Given the description of an element on the screen output the (x, y) to click on. 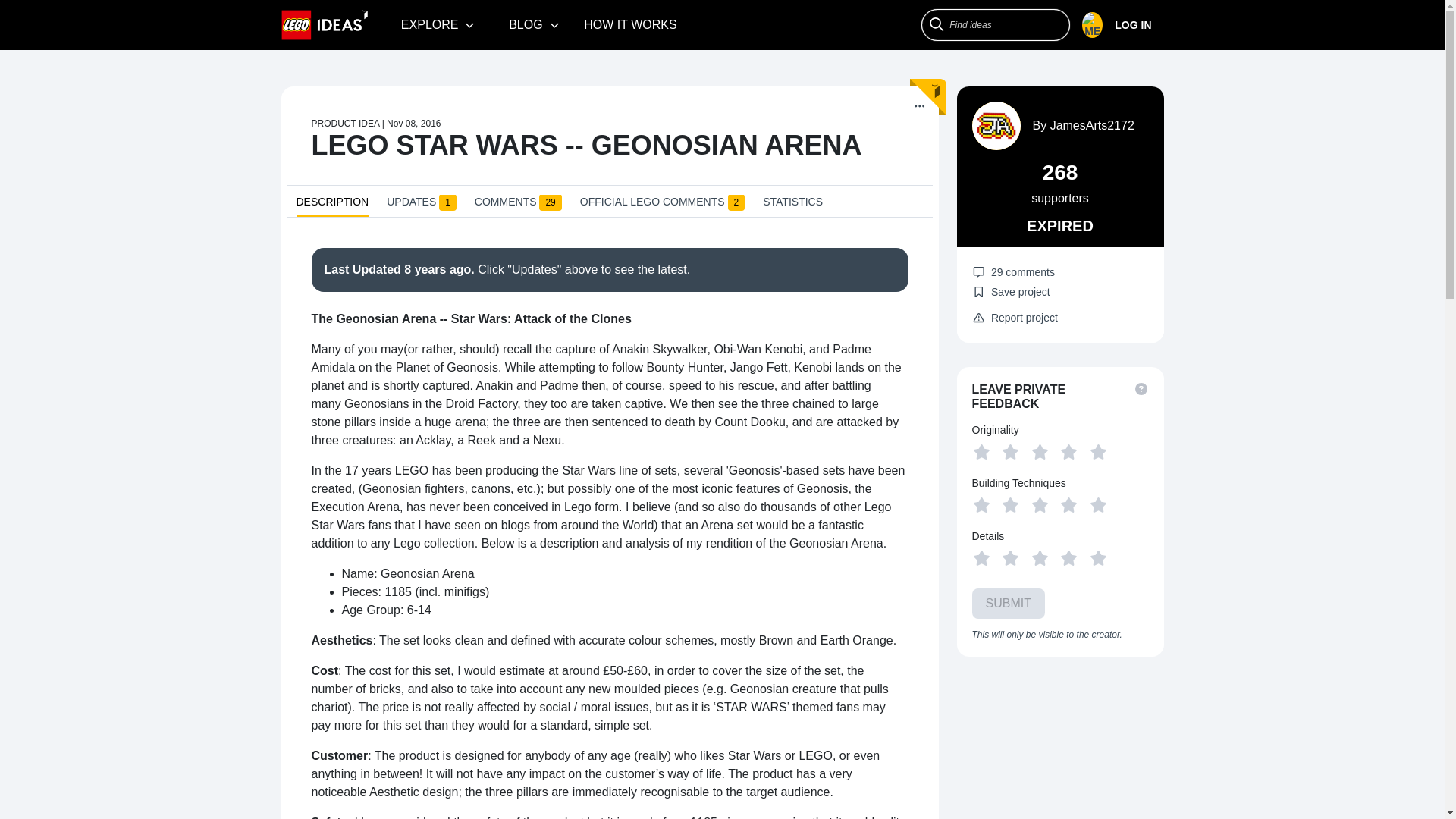
Report project (1015, 317)
UPDATES 1 (422, 204)
SUBMIT (1008, 603)
LOG IN (1122, 25)
2016-11-16T07:37:31.0Z (437, 269)
HOW IT WORKS (630, 24)
Save project (1010, 291)
Me (1116, 25)
EXPLORE (437, 24)
BLOG (534, 24)
OFFICIAL LEGO COMMENTS 2 (661, 204)
How It Works (630, 24)
DESCRIPTION (331, 205)
